Given the description of an element on the screen output the (x, y) to click on. 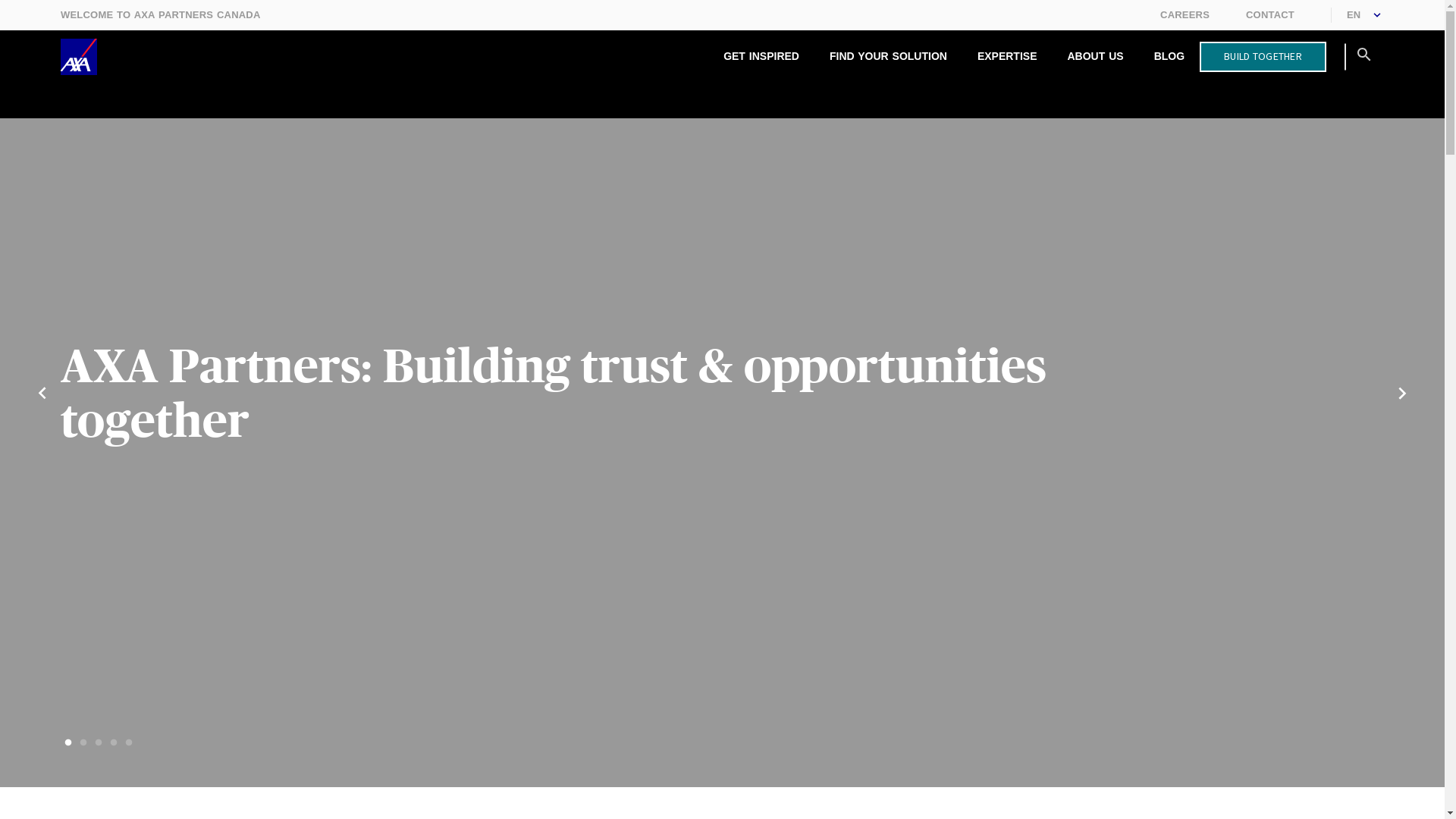
2 Element type: text (83, 742)
GET INSPIRED Element type: text (760, 56)
3 Element type: text (98, 742)
CONTACT Element type: text (1269, 14)
5 Element type: text (128, 742)
1 Element type: text (67, 742)
BLOG Element type: text (1169, 56)
4 Element type: text (113, 742)
WELCOME TO AXA PARTNERS CANADA Element type: text (160, 14)
CAREERS Element type: text (1184, 14)
